Given the description of an element on the screen output the (x, y) to click on. 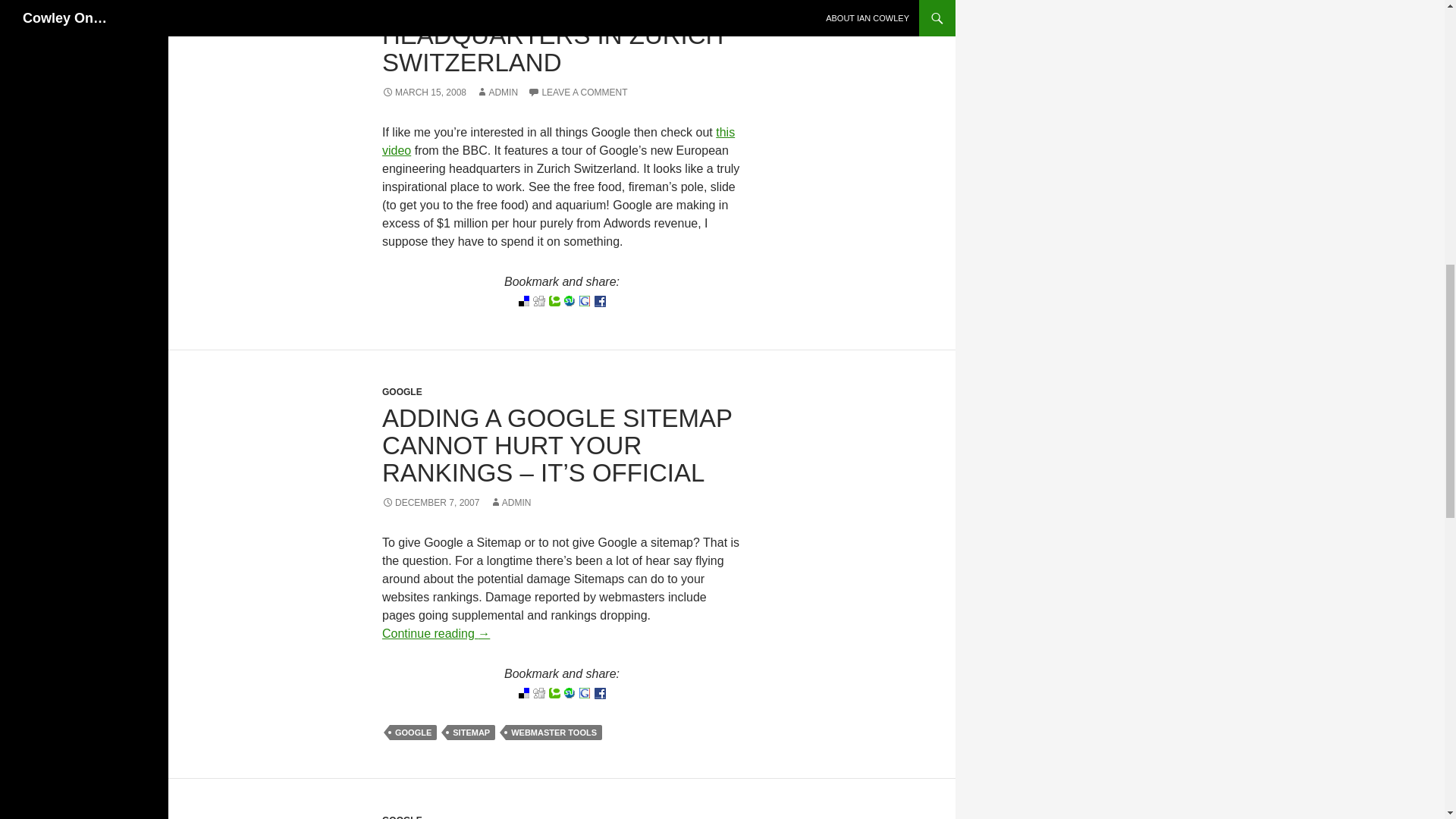
ADMIN (497, 91)
DECEMBER 7, 2007 (430, 502)
LEAVE A COMMENT (577, 91)
GOOGLE (401, 391)
GOOGLE (413, 732)
MARCH 15, 2008 (423, 91)
this video (558, 141)
ADMIN (510, 502)
